Given the description of an element on the screen output the (x, y) to click on. 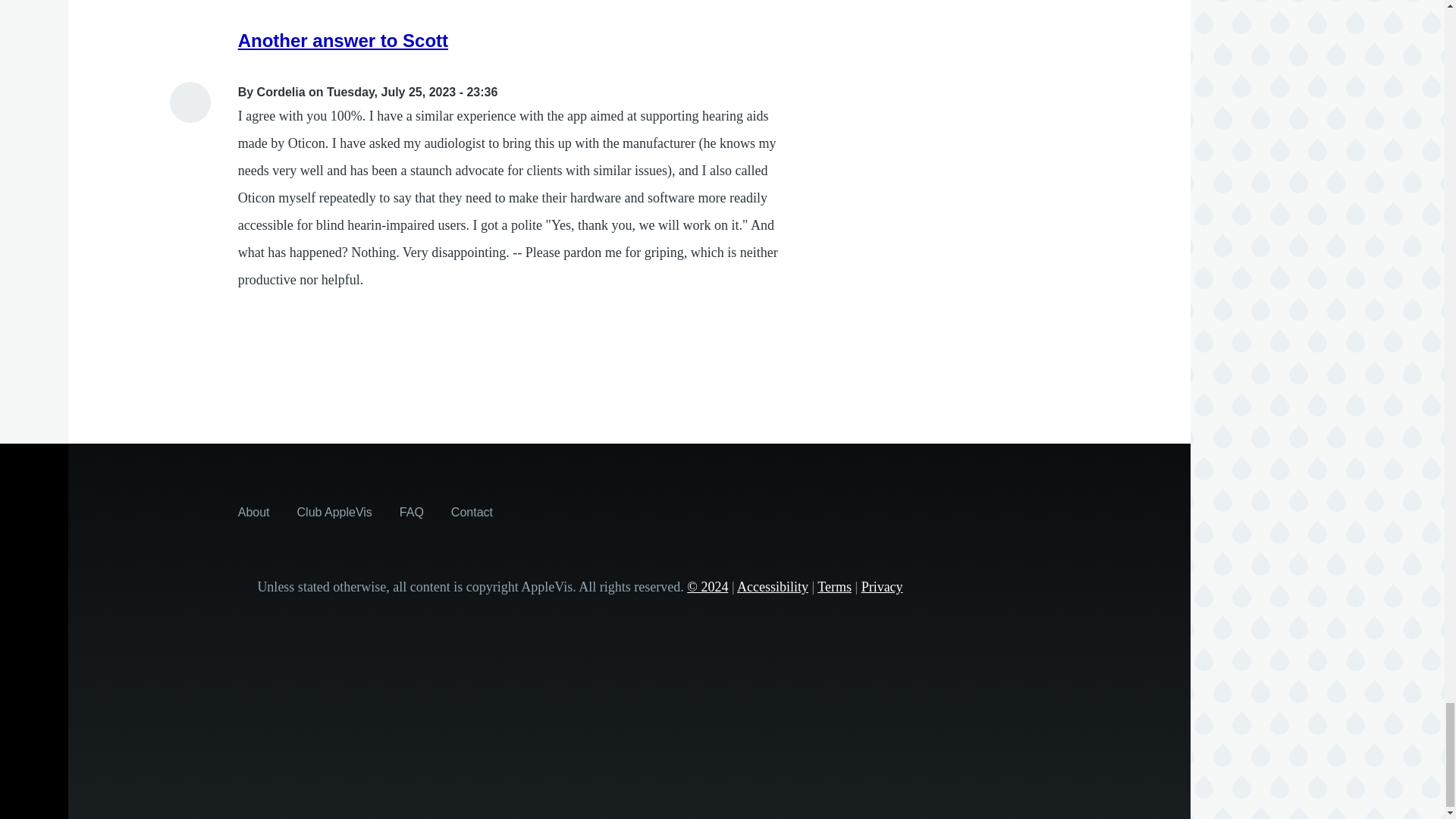
Another answer to Scott (343, 40)
Club AppleVis (334, 511)
About (253, 511)
Answers to some frequently asked questions about AppleVis (410, 511)
FAQ (410, 511)
About (253, 511)
